Given the description of an element on the screen output the (x, y) to click on. 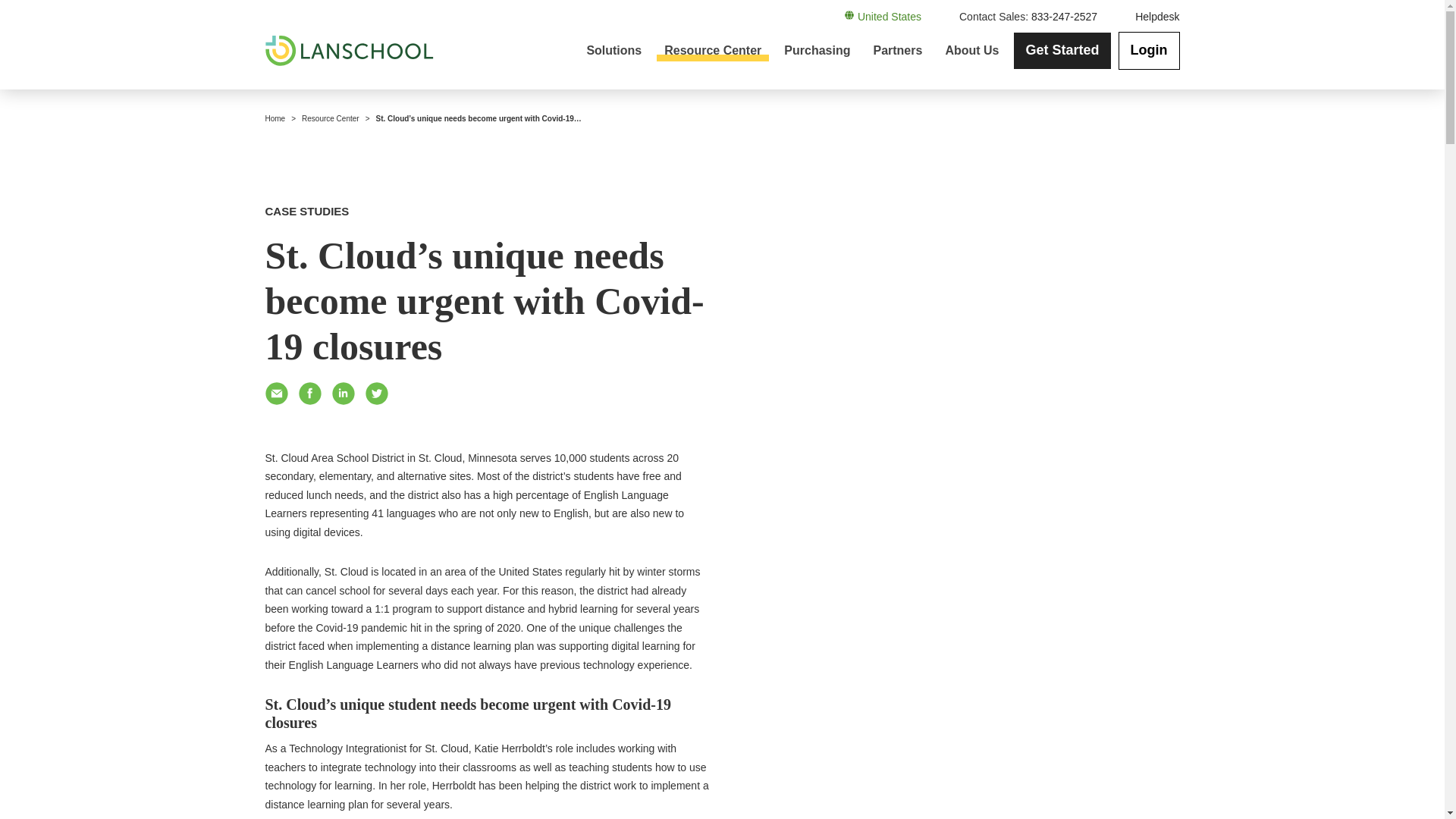
Partners (897, 50)
Purchasing (816, 50)
Home (274, 119)
833-247-2527 (1063, 16)
homepage (348, 51)
Solutions (613, 50)
Get Started (1061, 50)
Login (1148, 50)
Resource Center (330, 119)
 United States (882, 16)
About Us (971, 50)
Resource Center (712, 50)
Helpdesk (1157, 16)
